Given the description of an element on the screen output the (x, y) to click on. 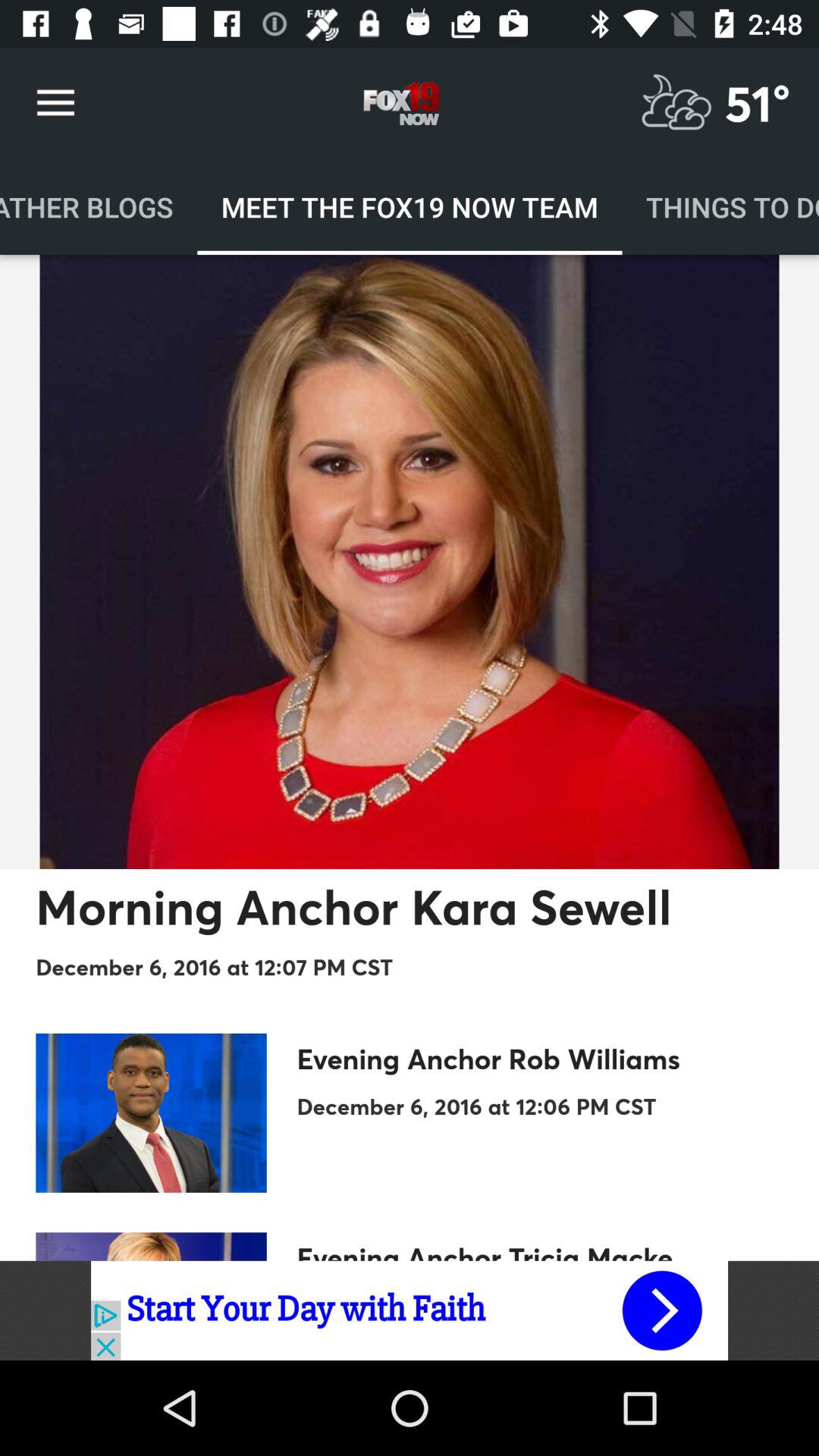
details about advertisement (409, 1310)
